Given the description of an element on the screen output the (x, y) to click on. 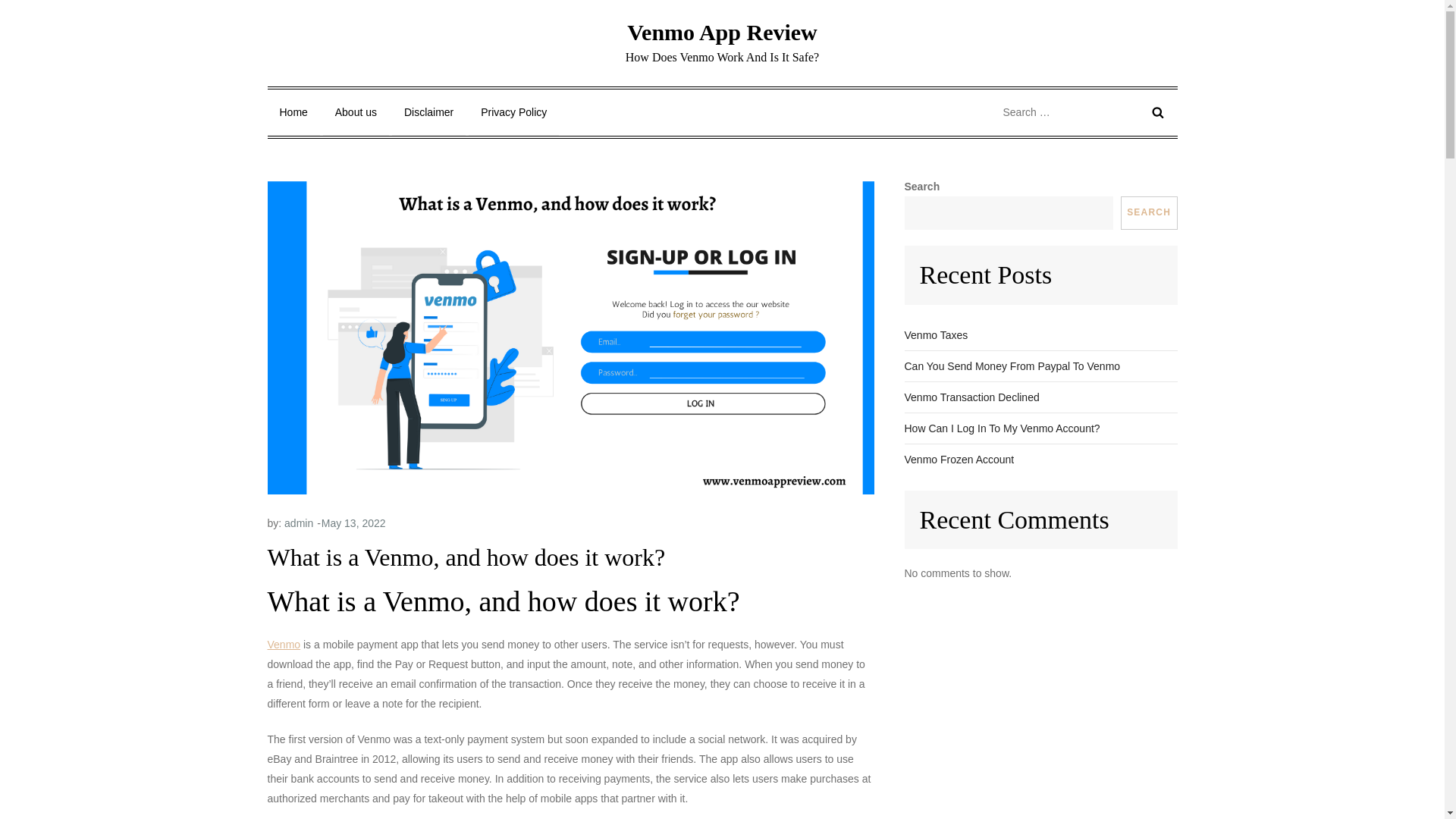
Venmo App Review (721, 32)
Venmo (282, 644)
SEARCH (1149, 213)
About us (355, 112)
How Can I Log In To My Venmo Account? (1001, 428)
admin (298, 522)
Disclaimer (428, 112)
May 13, 2022 (353, 522)
Home (292, 112)
Venmo Taxes (936, 334)
